Given the description of an element on the screen output the (x, y) to click on. 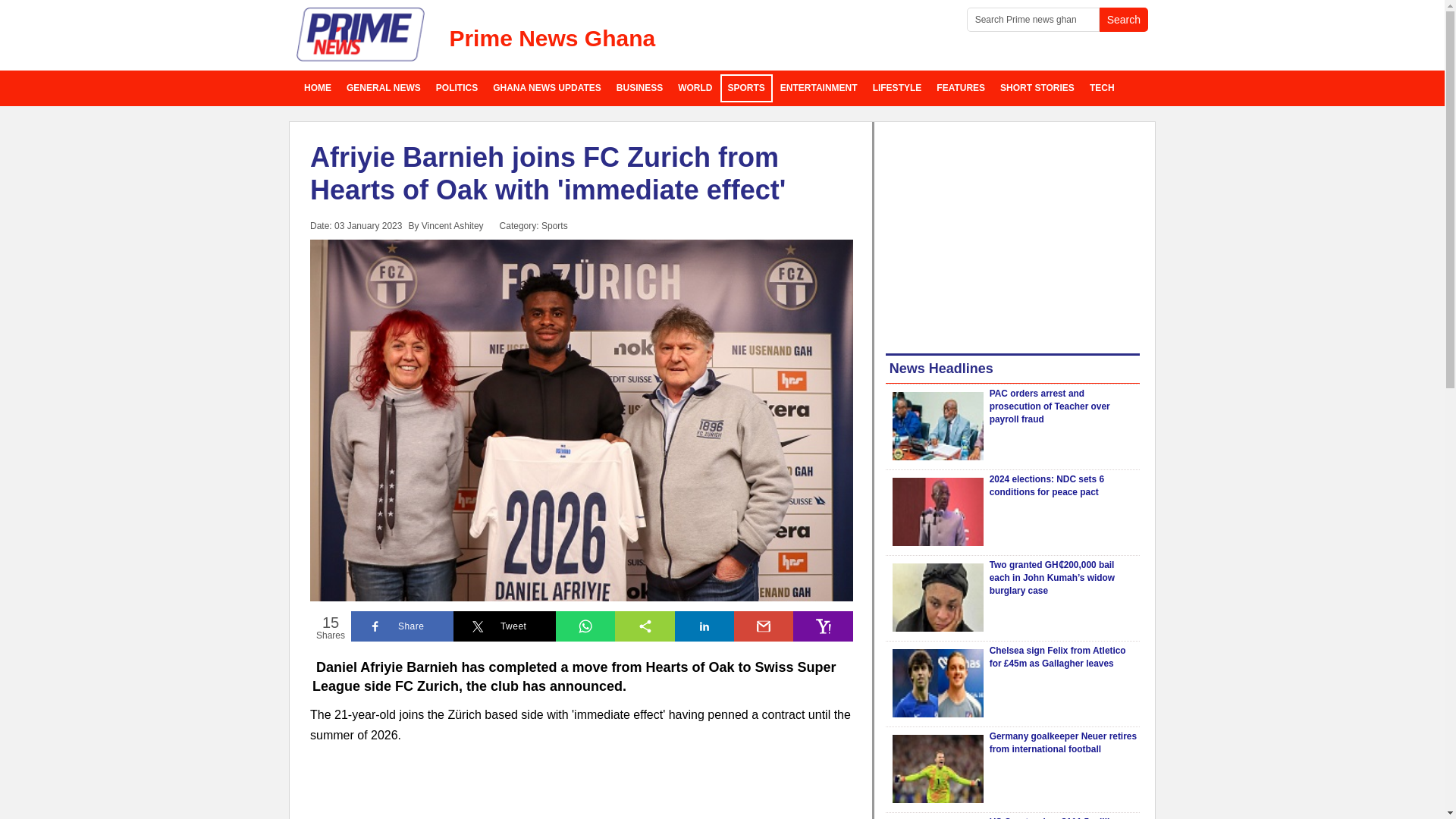
Lifestyle - Health - Relationships Articles and More (897, 88)
Ghana Sports news (746, 88)
Entertainment news in Ghana and Celebrity news (818, 88)
Advertisement (1012, 235)
Top ghana news headlines (546, 88)
Today's World News covering, Africa, Europe, Middle East (694, 88)
Ghana Political News (456, 88)
SPORTS (746, 88)
Search (1123, 19)
News in ghana (318, 88)
